Given the description of an element on the screen output the (x, y) to click on. 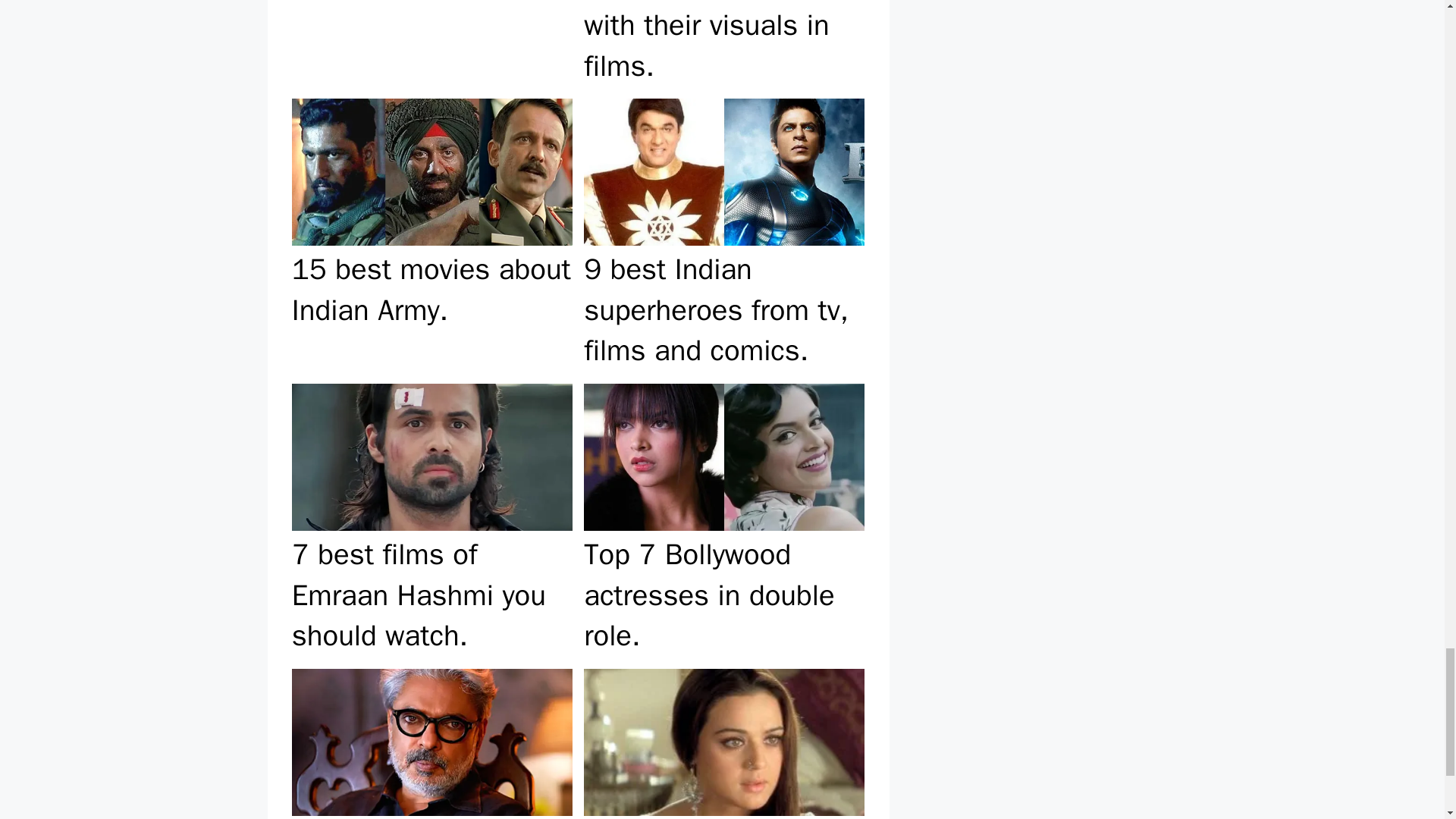
5 Christopher Nolan facts you should know. (431, 46)
11 interesting Sanjay Leela Bhansali facts. (431, 740)
9 best Indian superheroes from tv, films and comics. (723, 234)
15 best movies about Indian Army. (431, 234)
Top 5 films of Preity Zinta. (723, 740)
5 Christopher Nolan facts you should know. (431, 46)
Top 7 Bollywood actresses in double role. (723, 519)
7 best films of Emraan Hashmi you should watch. (431, 519)
